Given the description of an element on the screen output the (x, y) to click on. 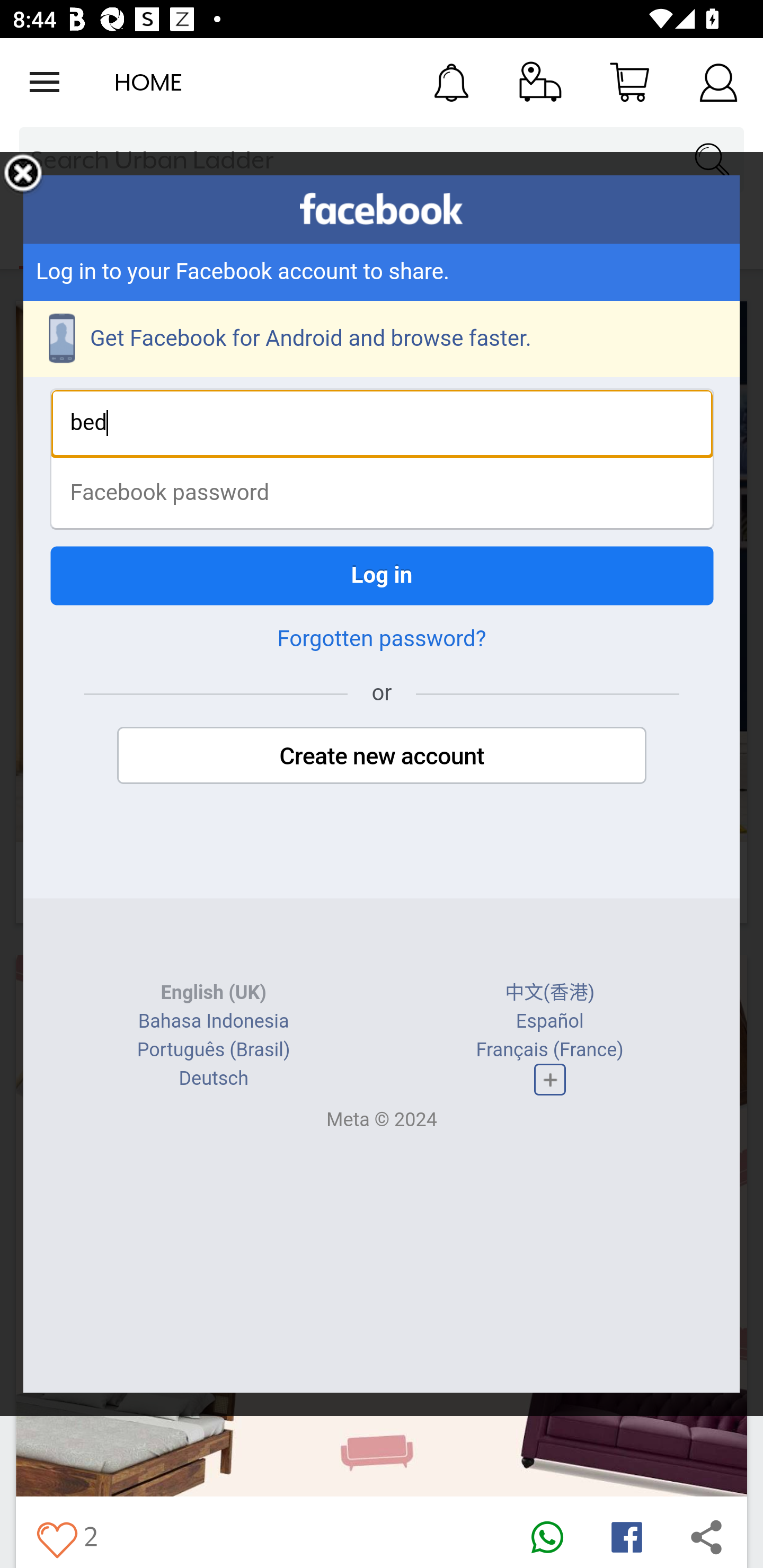
facebook (381, 208)
Get Facebook for Android and browse faster. (381, 339)
bed (381, 423)
Log in (381, 575)
Forgotten password? (381, 638)
Create new account (381, 755)
中文(香港) (550, 993)
Bahasa Indonesia (214, 1021)
Español (549, 1021)
Português (Brasil) (212, 1049)
Français (France) (549, 1049)
Complete list of languages (548, 1079)
Deutsch (212, 1078)
